Given the description of an element on the screen output the (x, y) to click on. 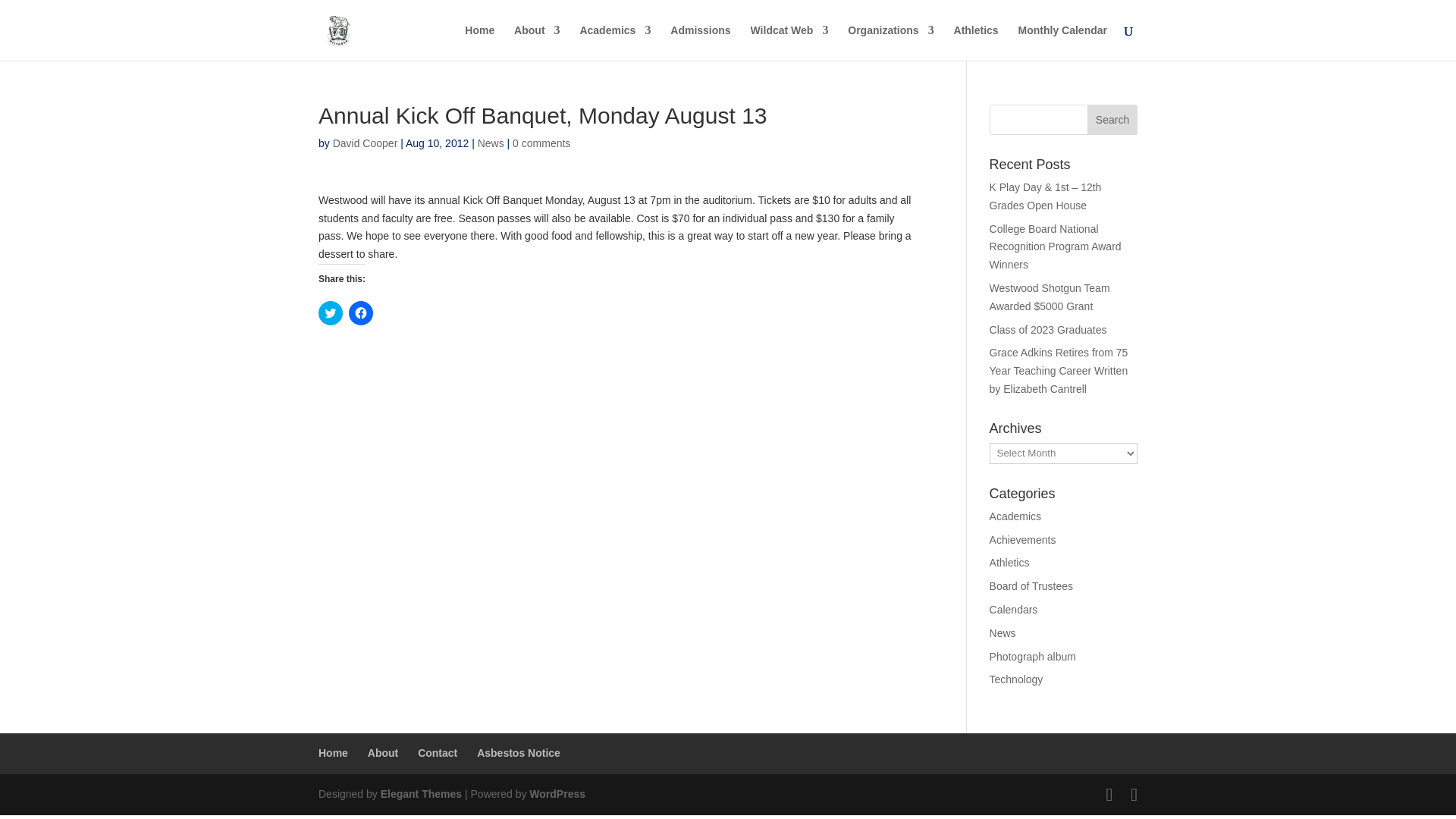
About (536, 42)
Click to share on Twitter (330, 313)
Admissions (699, 42)
Click to share on Facebook (360, 313)
Search (1112, 119)
Organizations (890, 42)
Academics (614, 42)
Premium WordPress Themes (420, 793)
Wildcat Web (789, 42)
Posts by David Cooper (365, 143)
